Given the description of an element on the screen output the (x, y) to click on. 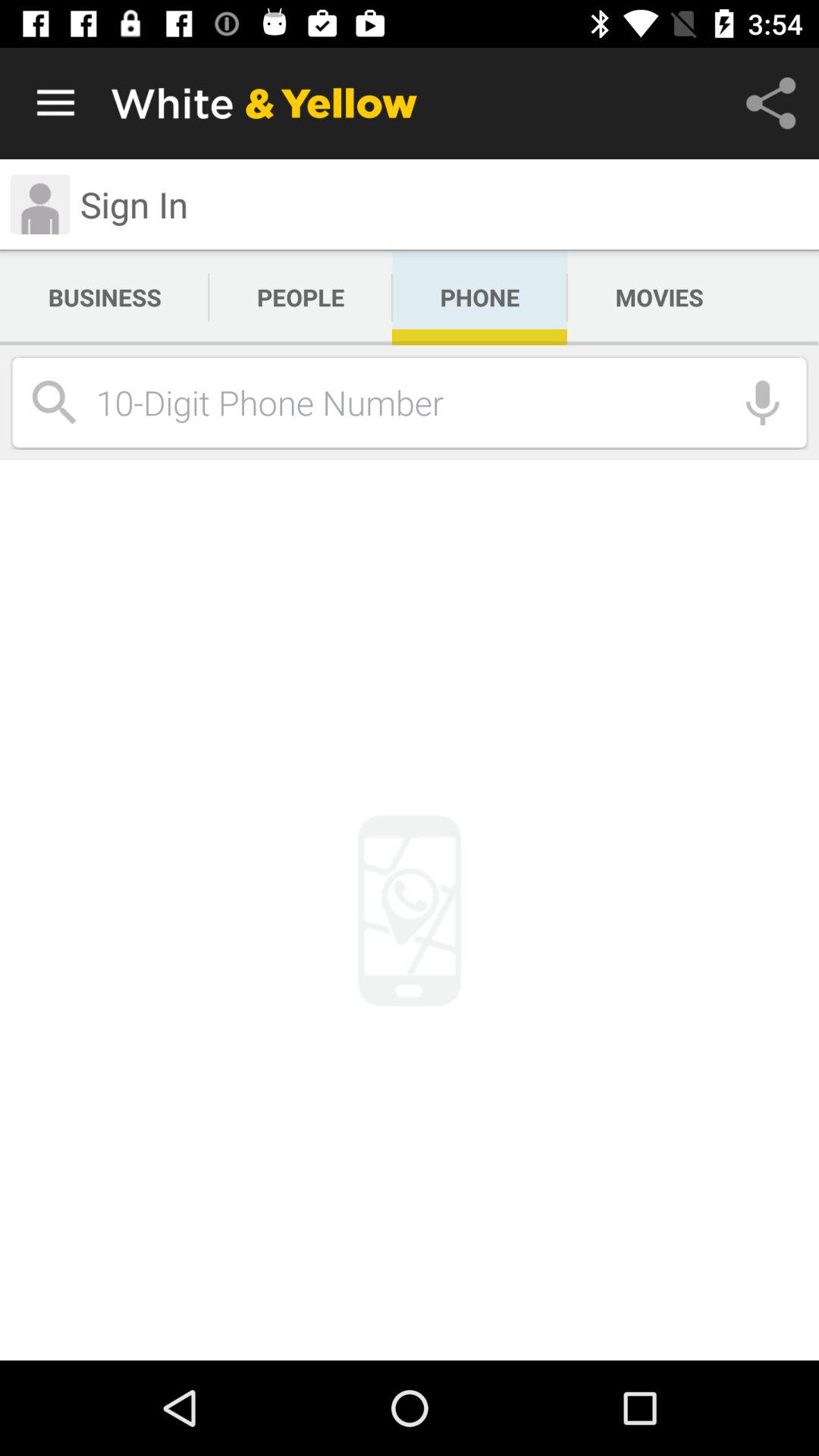
launch icon next to phone icon (300, 297)
